Given the description of an element on the screen output the (x, y) to click on. 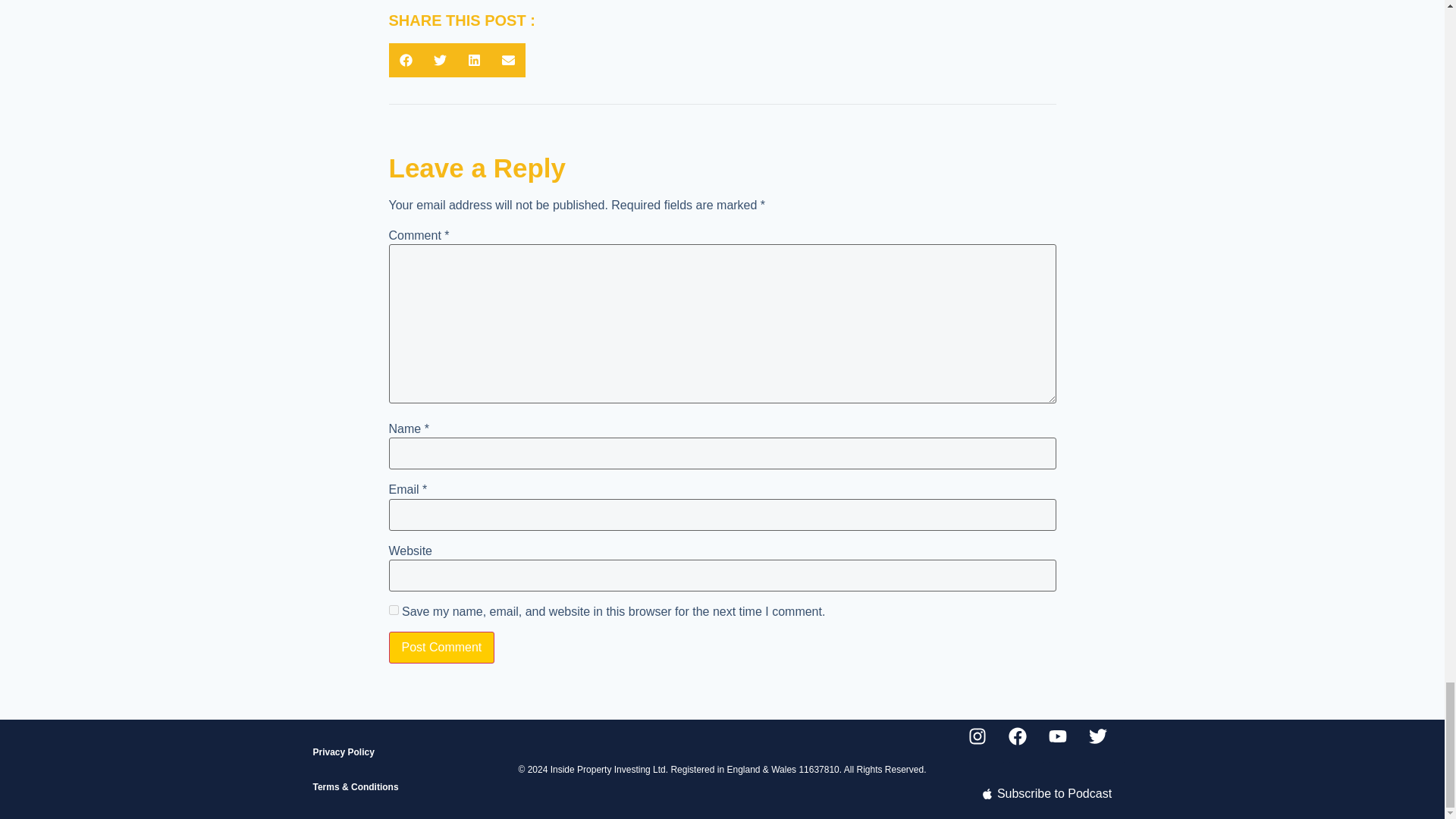
Privacy Policy (397, 751)
Post Comment (441, 647)
yes (392, 610)
Post Comment (441, 647)
